Given the description of an element on the screen output the (x, y) to click on. 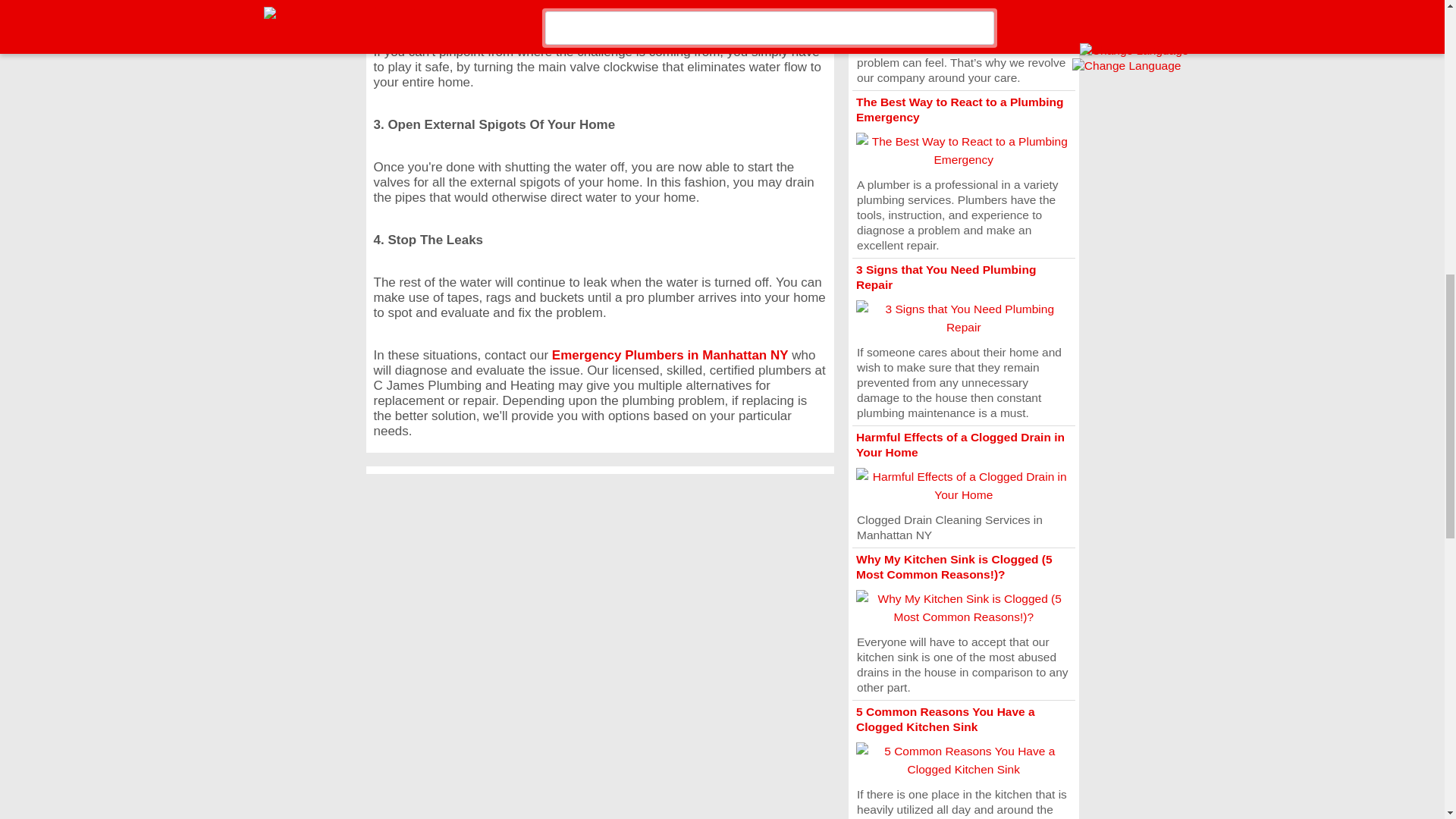
The Best Way to React to a Plumbing Emergency (960, 109)
Harmful Effects of a Clogged Drain in Your Home (960, 444)
3 Signs that You Need Plumbing Repair (945, 276)
Emergency Plumbers in Manhattan NY (670, 355)
